Given the description of an element on the screen output the (x, y) to click on. 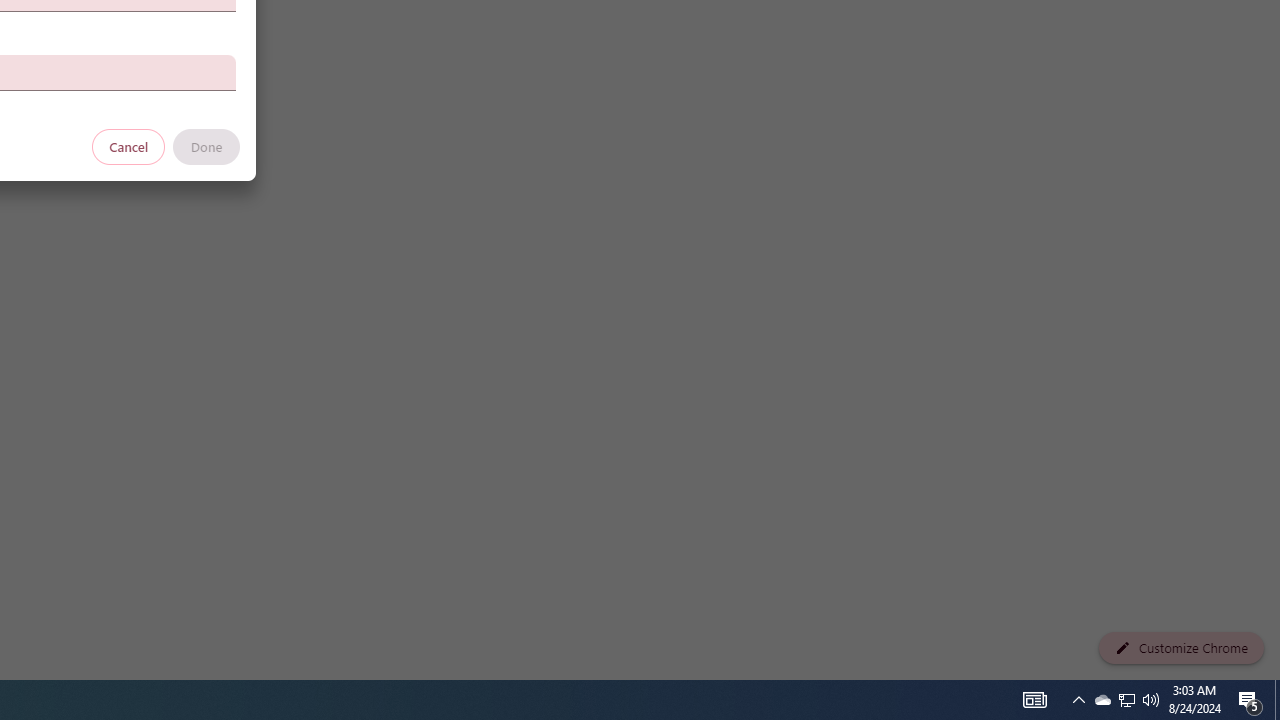
Done (206, 146)
Cancel (129, 146)
